Given the description of an element on the screen output the (x, y) to click on. 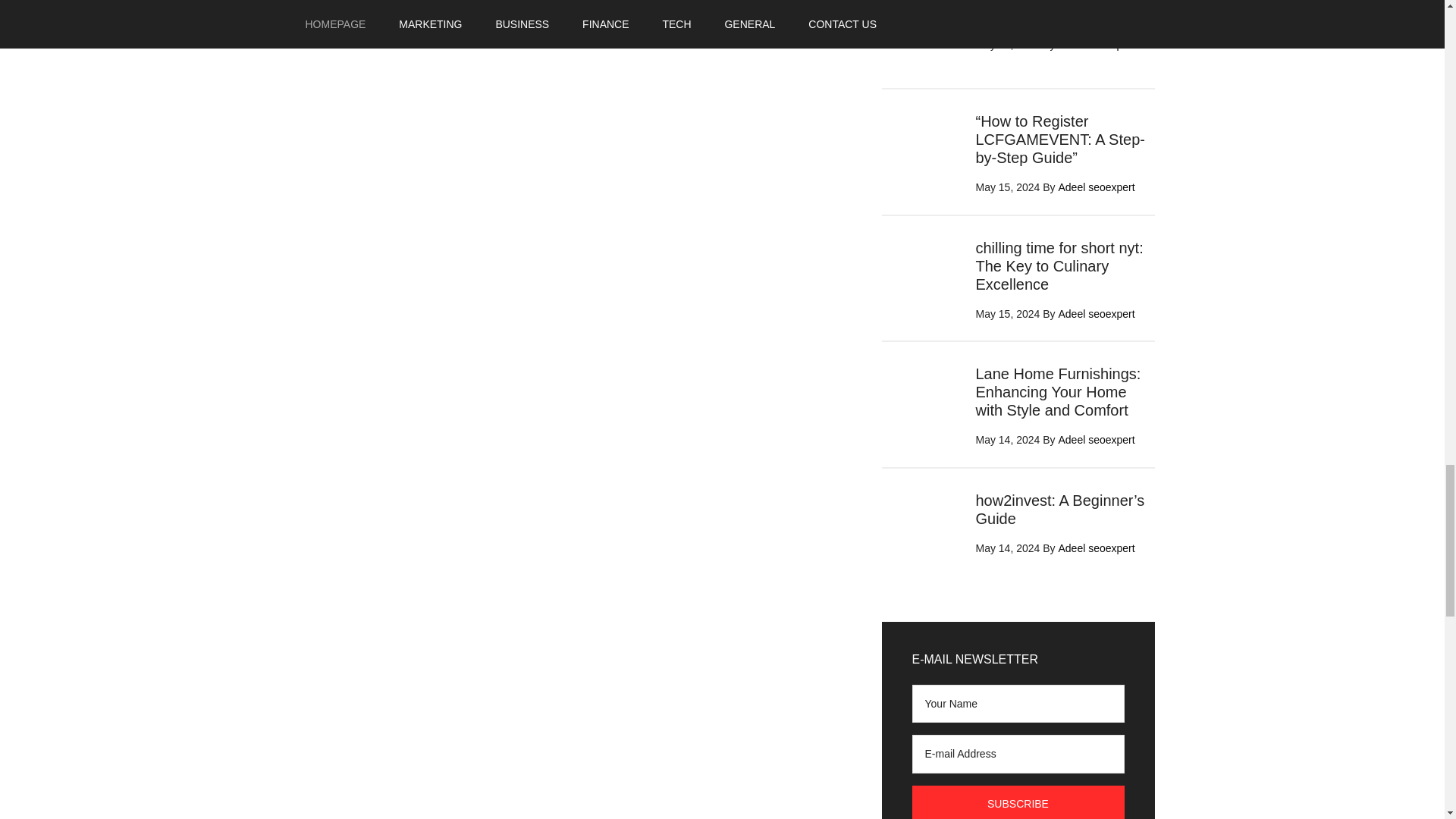
Subscribe (1017, 802)
